Given the description of an element on the screen output the (x, y) to click on. 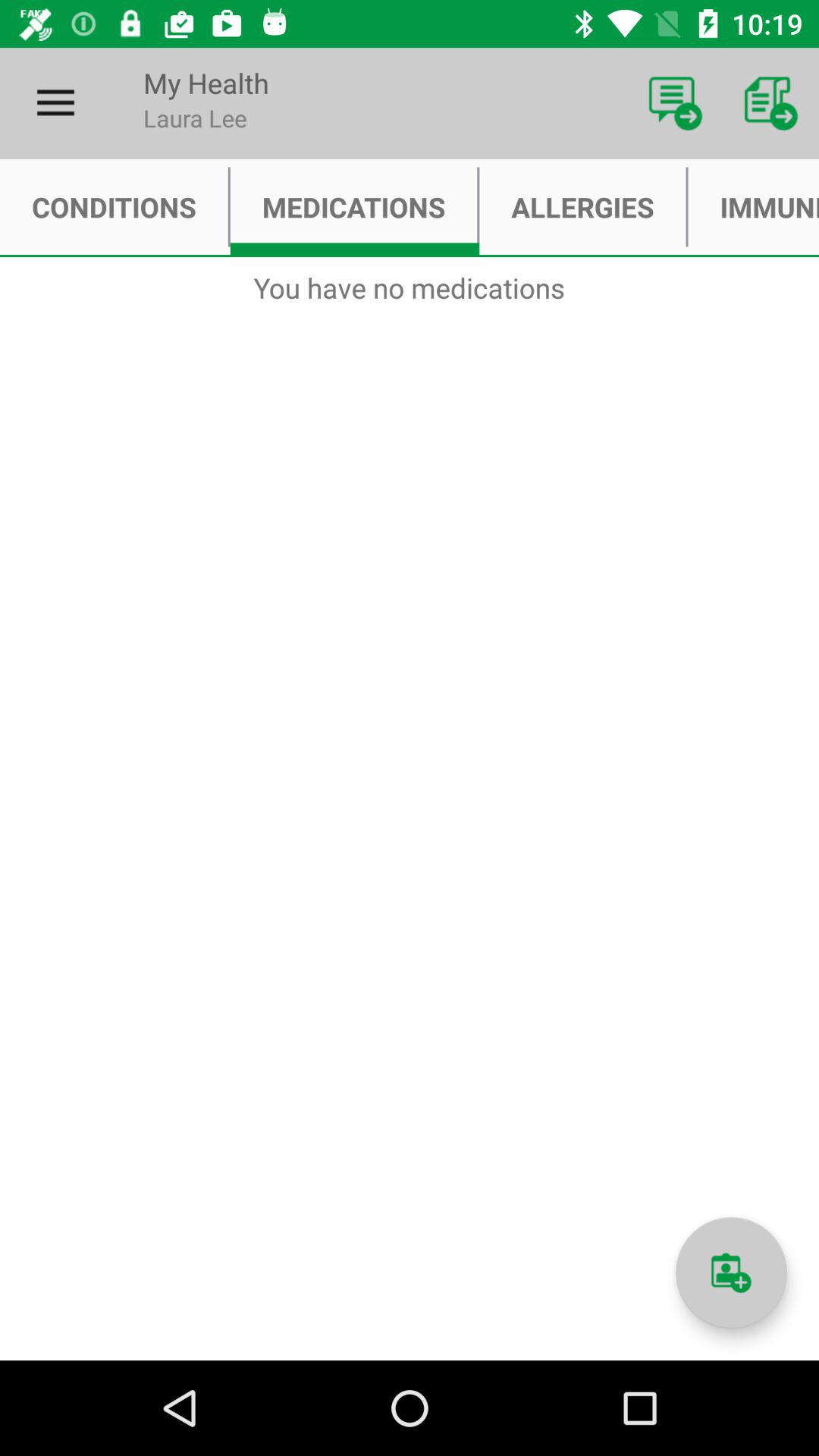
turn on icon next to my health icon (55, 103)
